Given the description of an element on the screen output the (x, y) to click on. 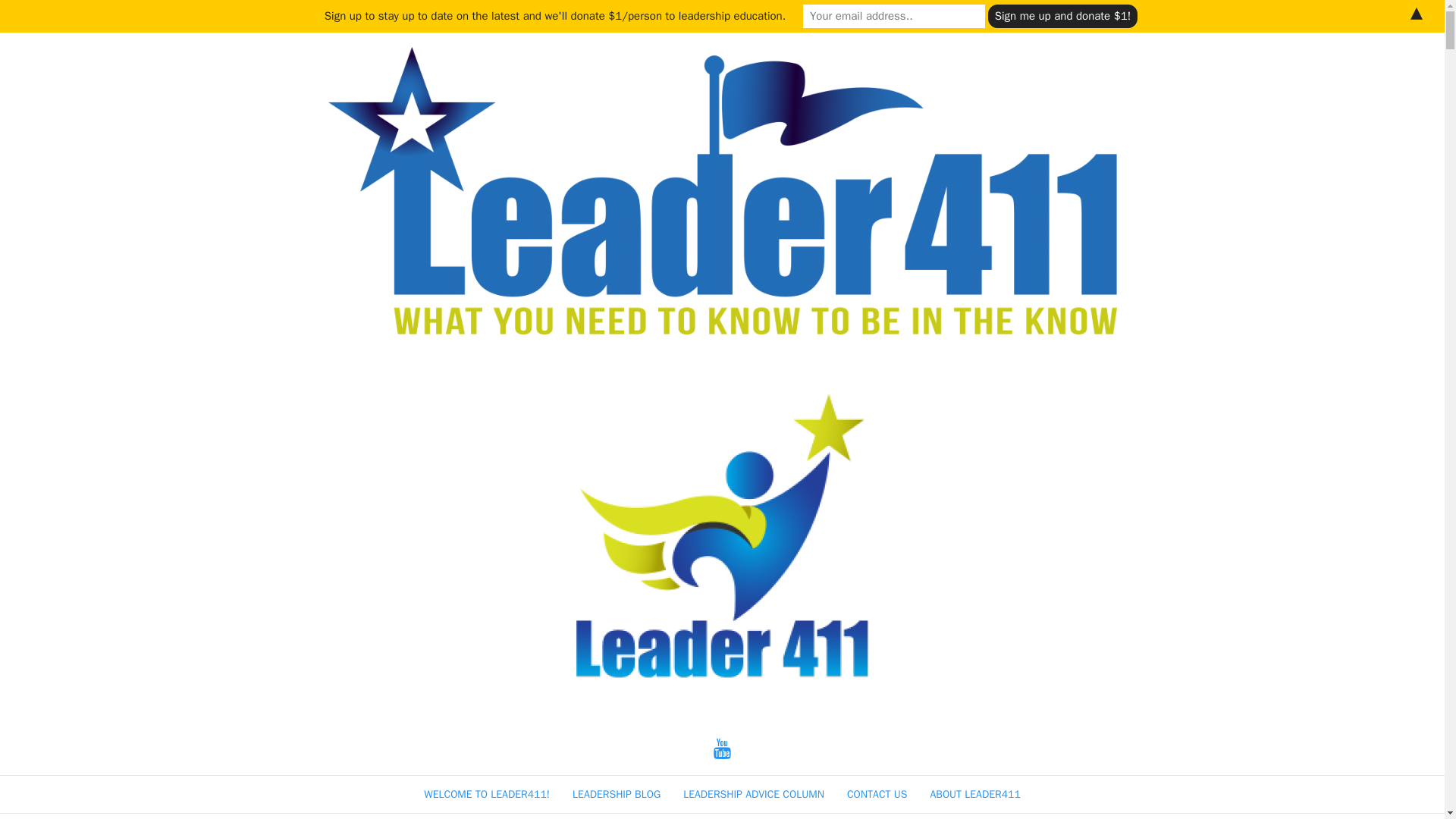
CONTACT US (877, 794)
ABOUT LEADER411 (975, 794)
LEADERSHIP BLOG (616, 794)
WELCOME TO LEADER411! (486, 794)
LEADERSHIP ADVICE COLUMN (753, 794)
